Given the description of an element on the screen output the (x, y) to click on. 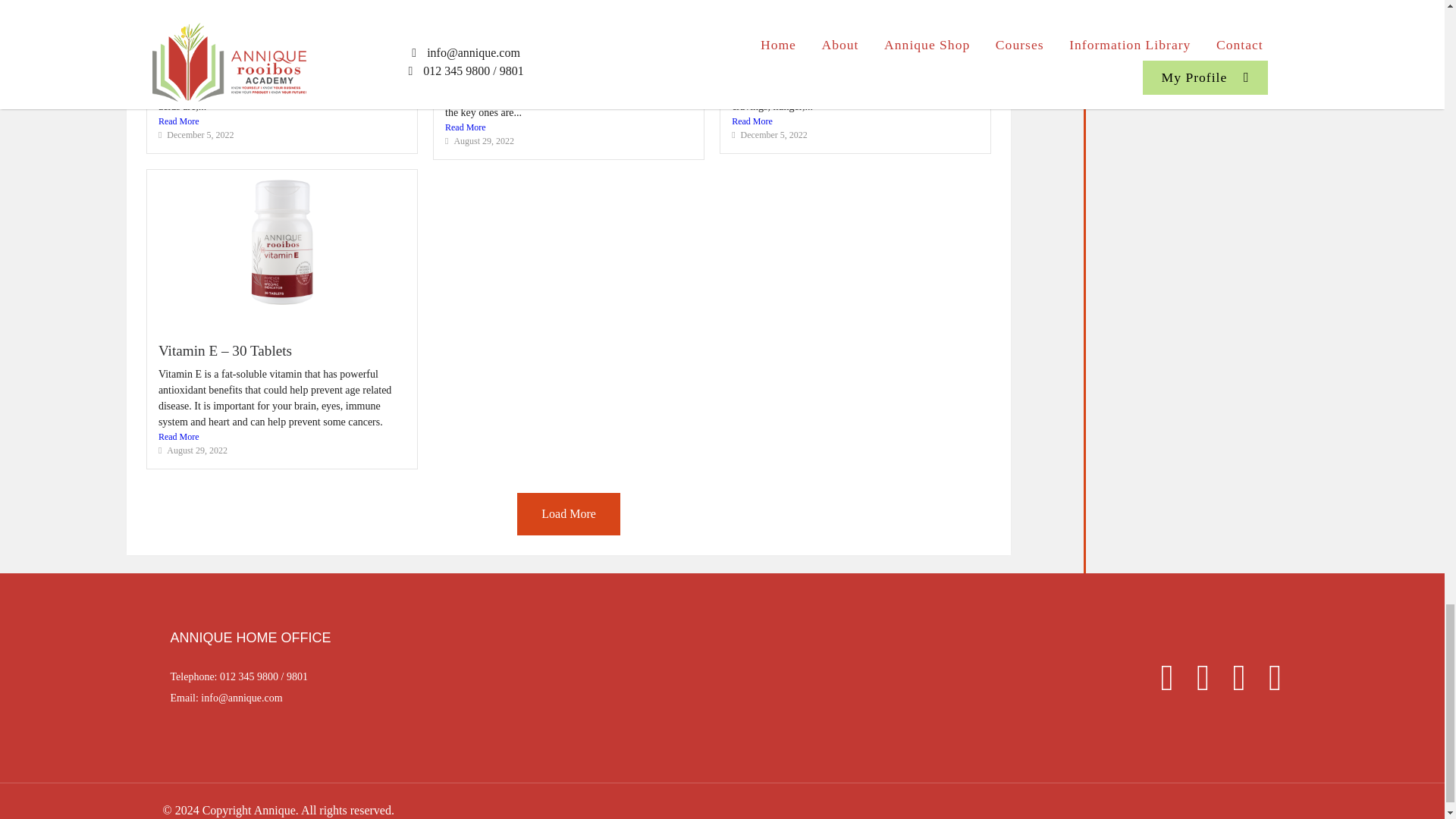
Fat Attack 60 Capsules (225, 19)
Chromium Picolinate 30 Tablets (826, 19)
Facebook (1159, 683)
